Given the description of an element on the screen output the (x, y) to click on. 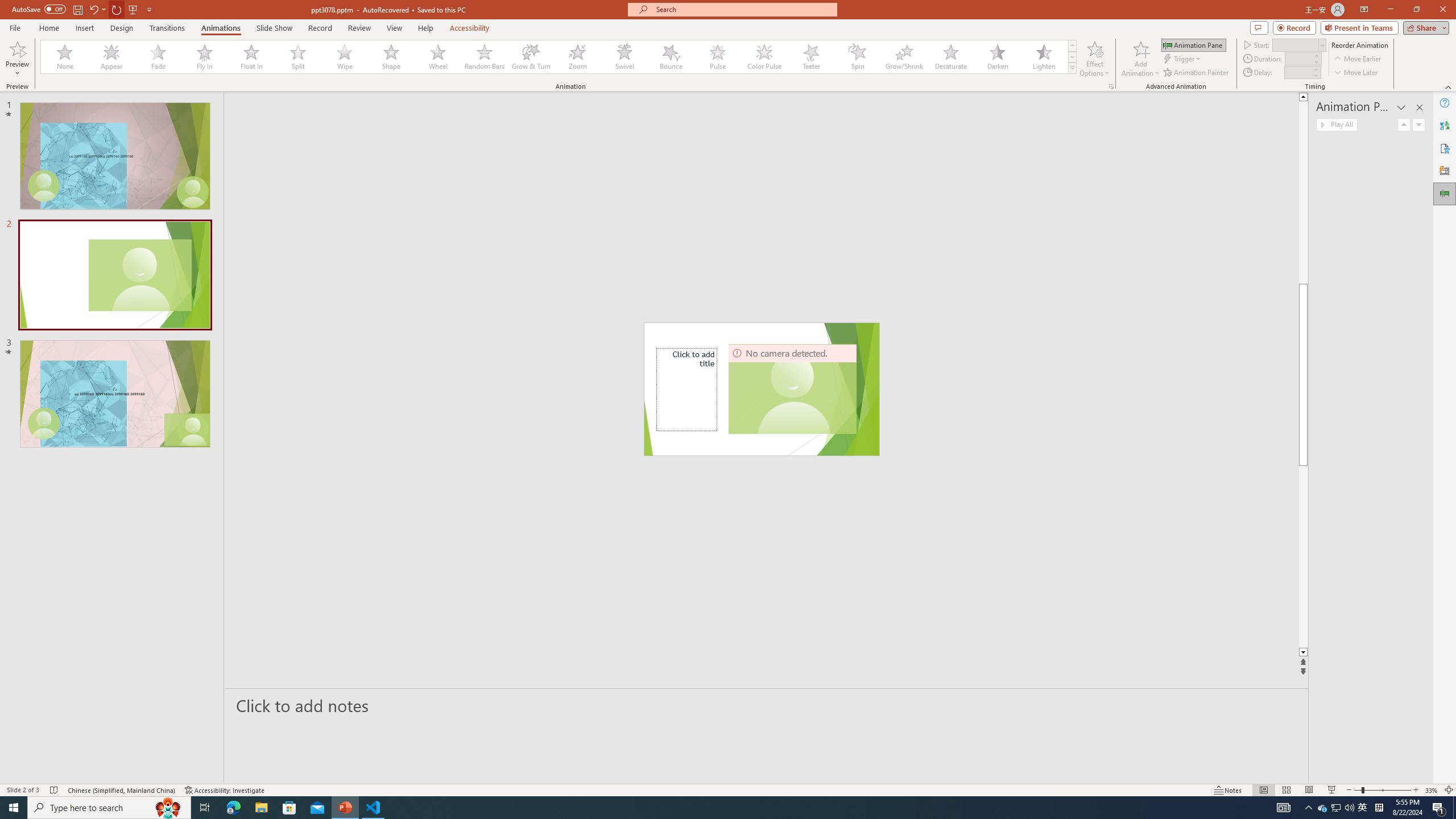
AutomationID: AnimationGallery (558, 56)
Grow & Turn (531, 56)
Darken (997, 56)
